Given the description of an element on the screen output the (x, y) to click on. 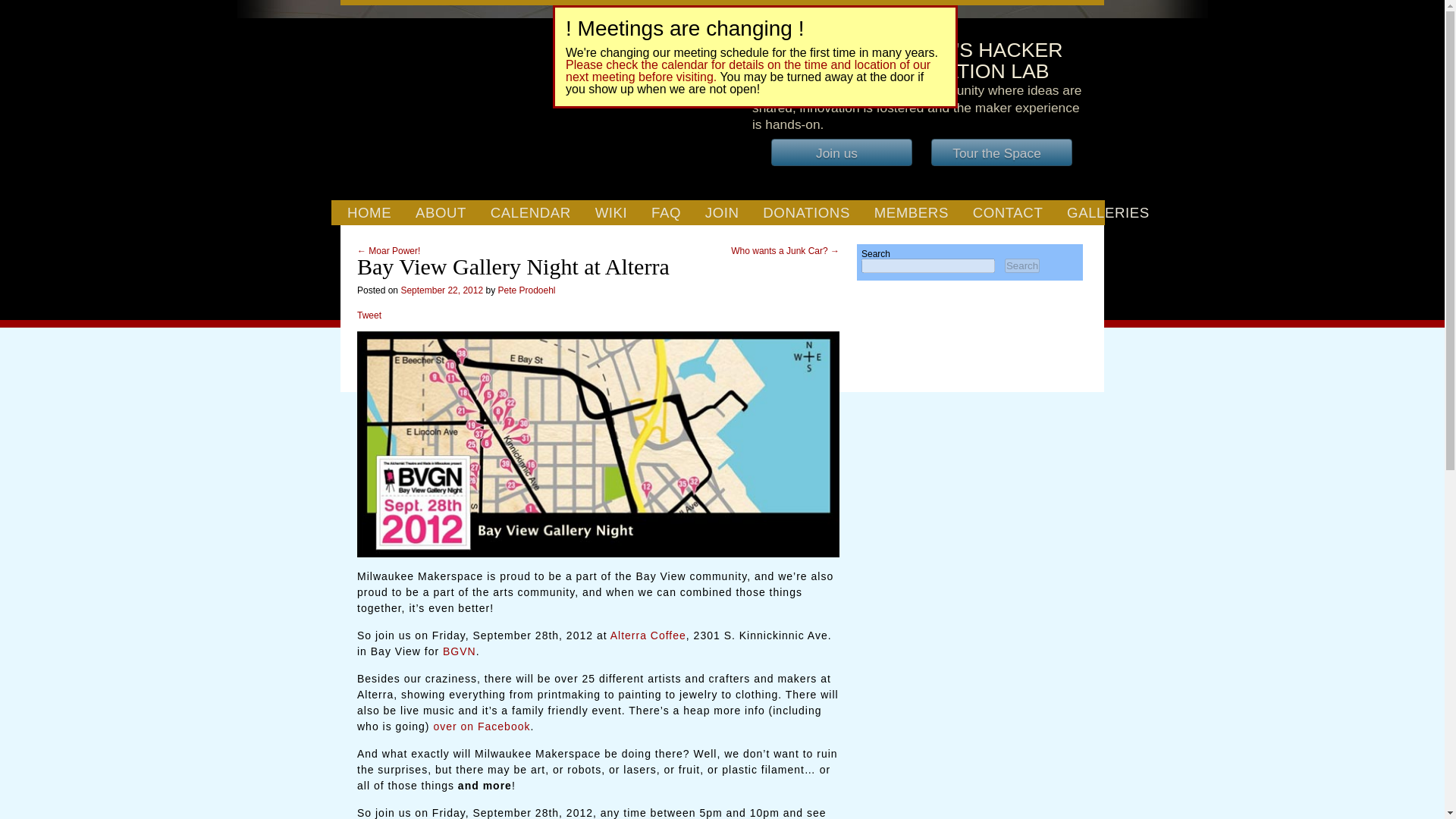
MEMBERS (911, 212)
GALLERIES (1107, 212)
Join us (841, 152)
BGVN (459, 651)
Tweet (368, 315)
Search (1021, 265)
JOIN (722, 212)
FAQ (666, 212)
HOME (369, 212)
over on Facebook (480, 726)
